Given the description of an element on the screen output the (x, y) to click on. 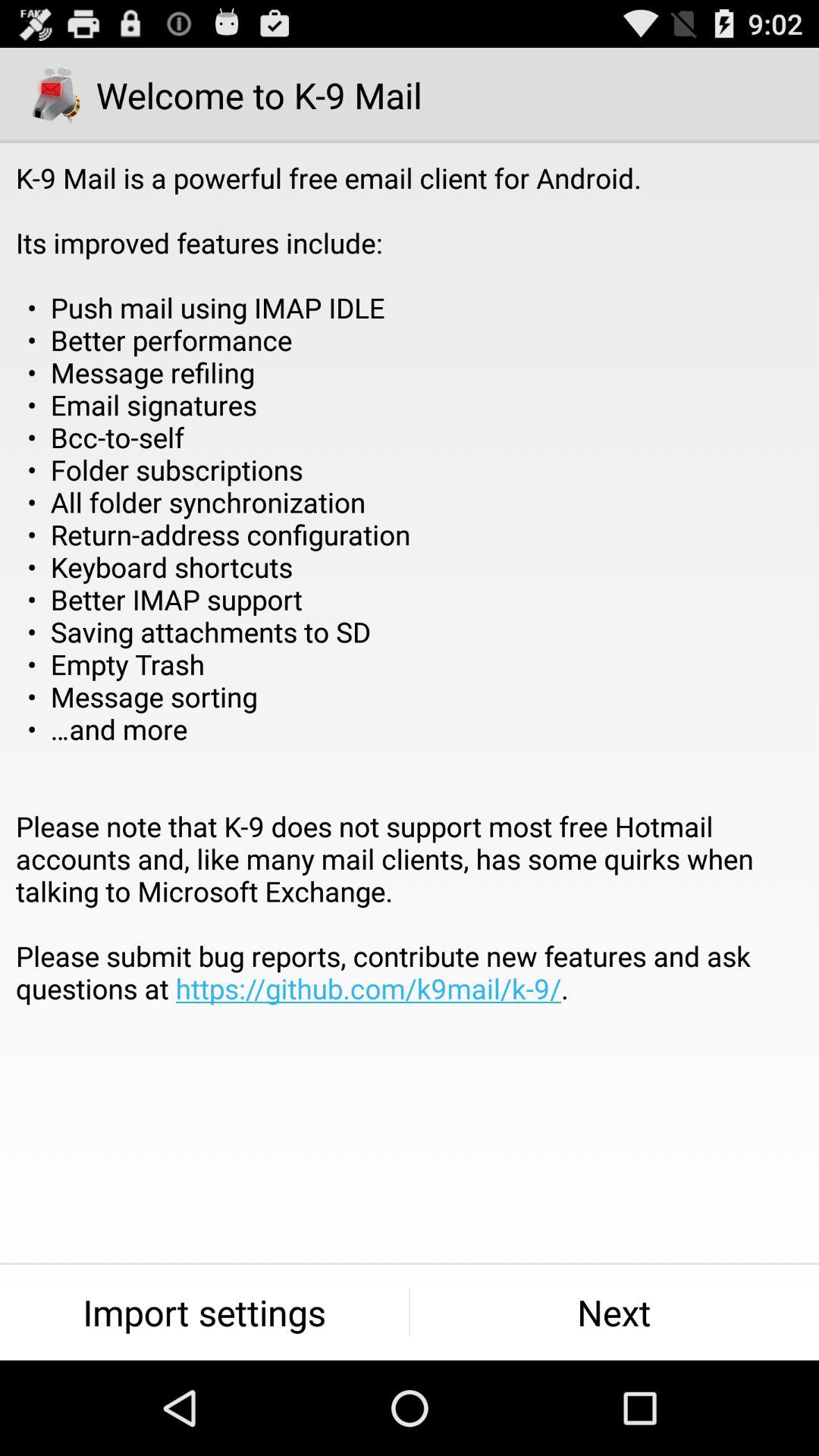
open the button at the bottom right corner (614, 1312)
